Given the description of an element on the screen output the (x, y) to click on. 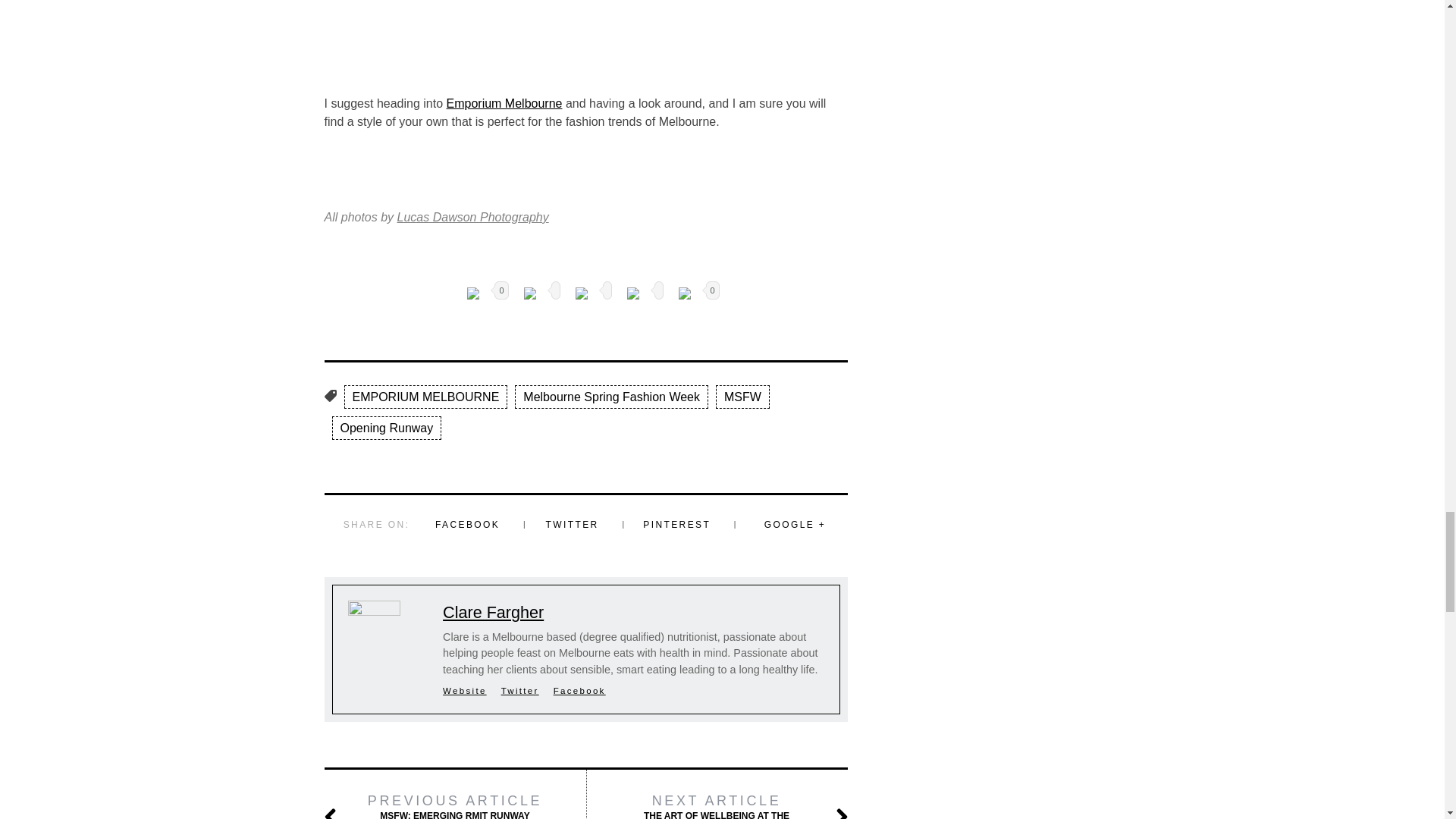
google (632, 292)
facebook (473, 292)
twitter (529, 292)
email (580, 292)
pinterest (683, 292)
